Given the description of an element on the screen output the (x, y) to click on. 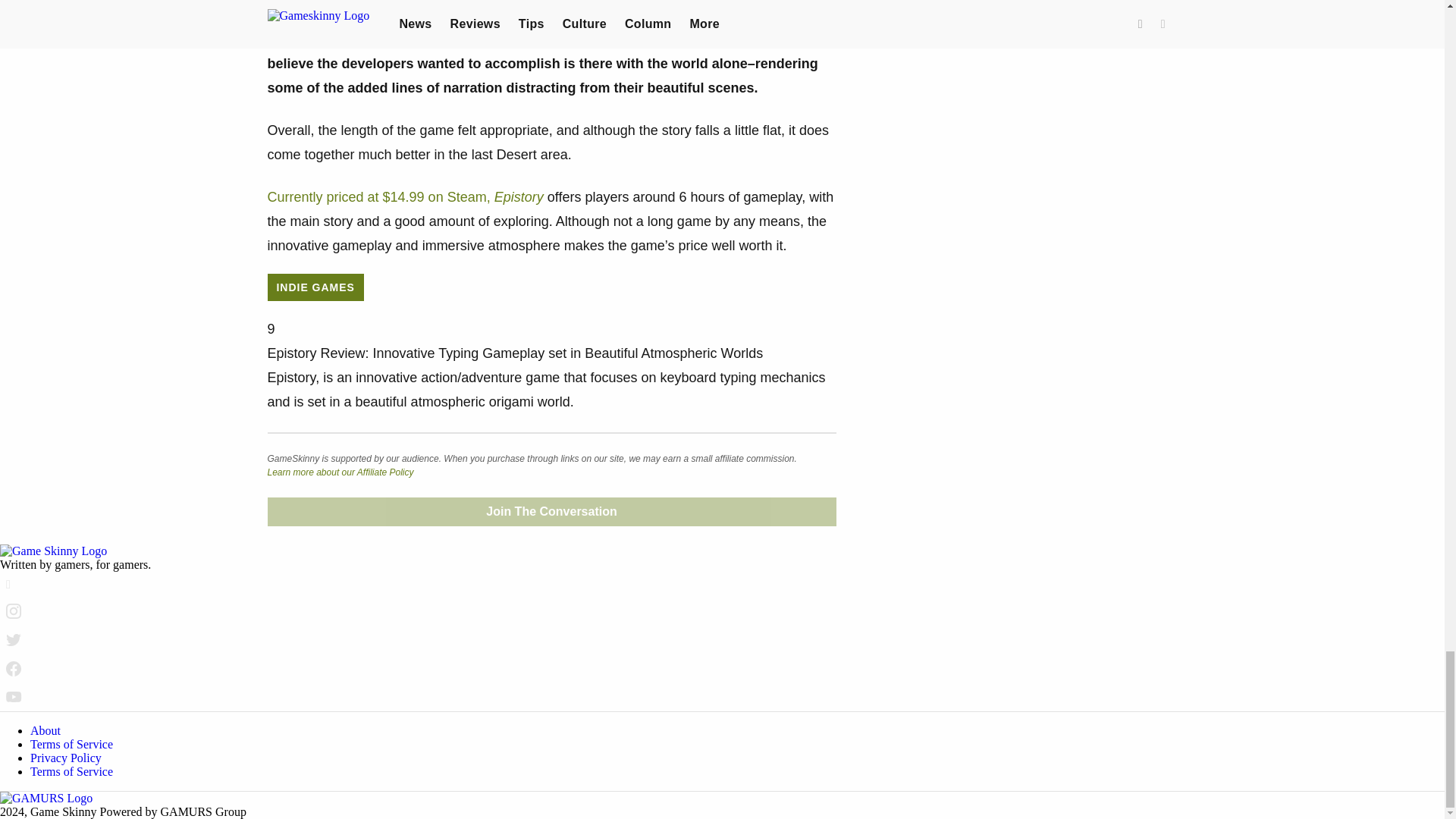
Join The Conversation (550, 511)
